Given the description of an element on the screen output the (x, y) to click on. 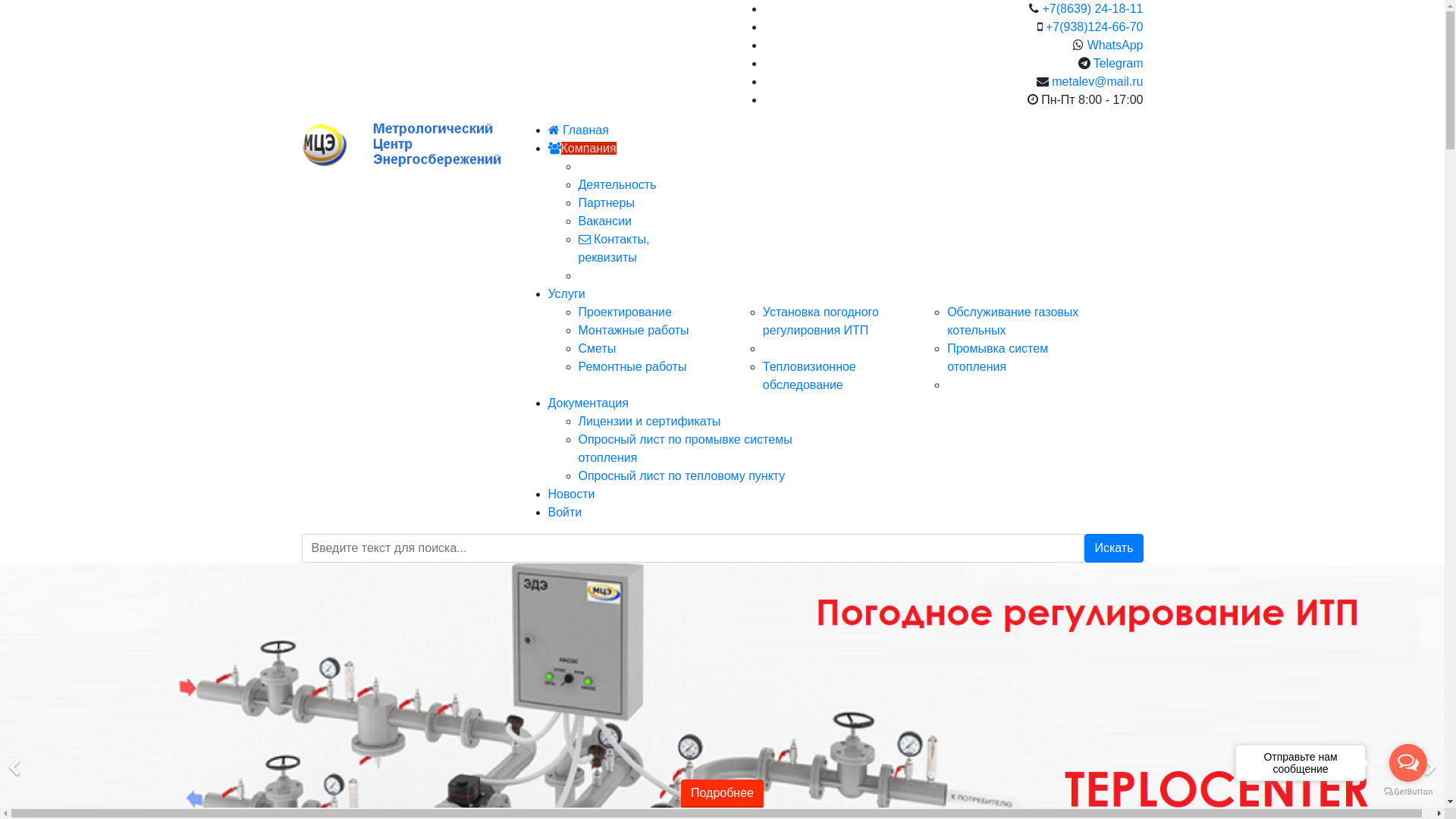
+7(938)124-66-70 Element type: text (1094, 26)
Telegram Element type: text (1118, 62)
+7(8639) 24-18-11 Element type: text (1092, 8)
metalev@mail.ru Element type: text (1096, 81)
WhatsApp Element type: text (1115, 44)
